Given the description of an element on the screen output the (x, y) to click on. 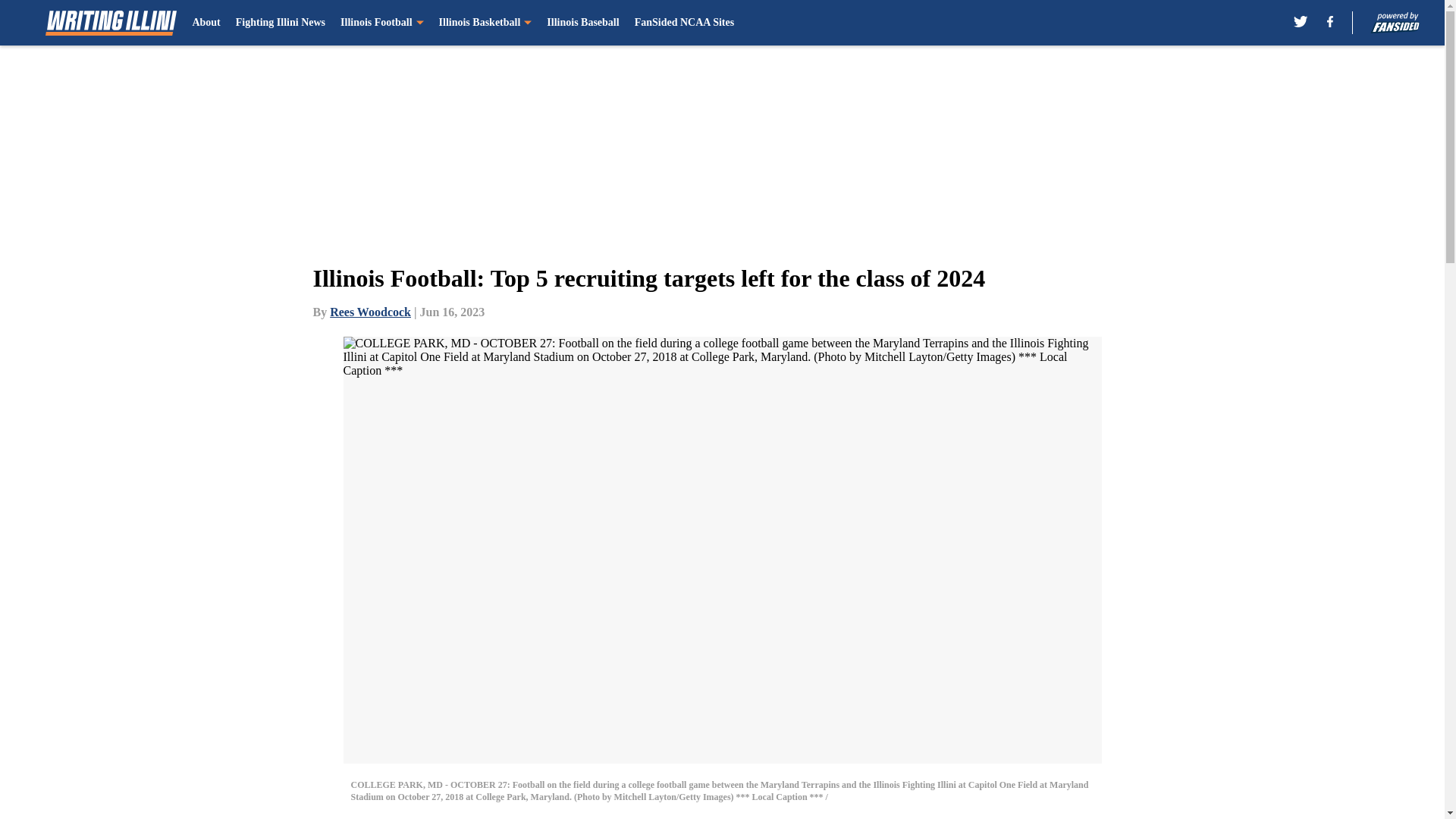
Rees Woodcock (370, 311)
Illinois Baseball (582, 22)
FanSided NCAA Sites (683, 22)
About (205, 22)
Fighting Illini News (279, 22)
